Given the description of an element on the screen output the (x, y) to click on. 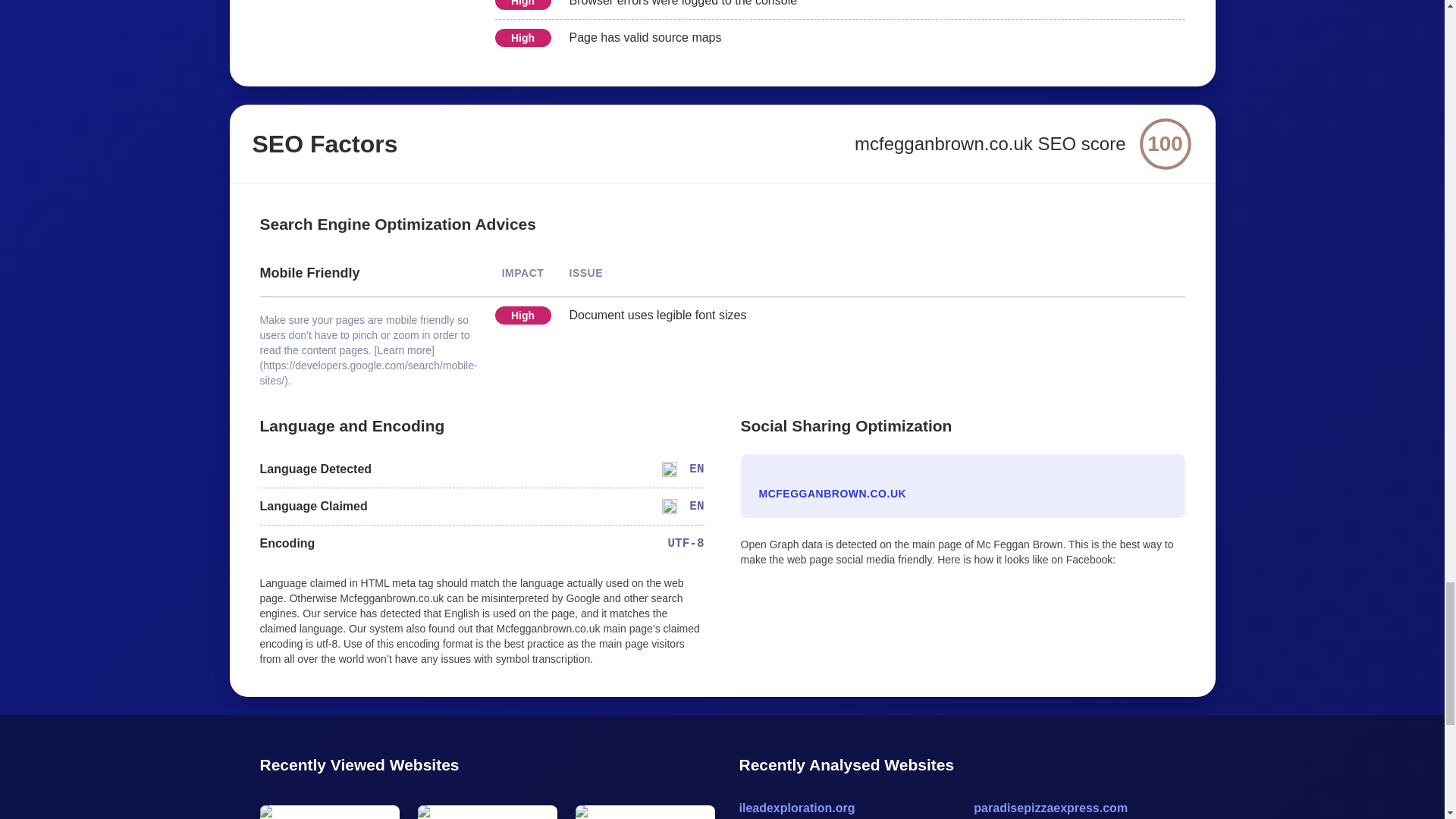
ileadexploration.org (848, 808)
paradisepizzaexpress.com (1079, 808)
